Given the description of an element on the screen output the (x, y) to click on. 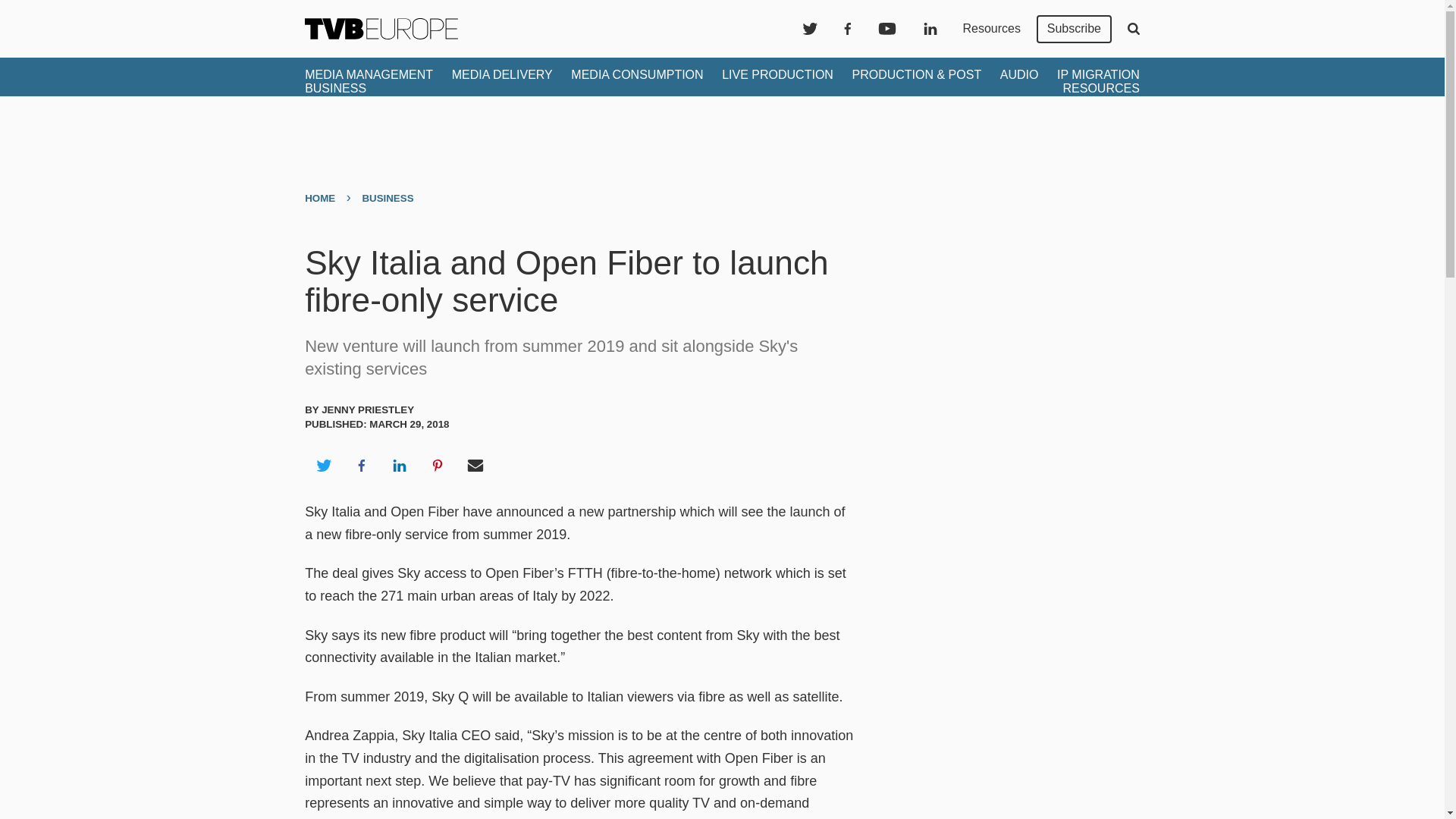
Share on Pinterest (438, 465)
Jenny Priestley's Author Profile (367, 409)
Share on Twitter (323, 465)
Share on LinkedIn (399, 465)
Share on Facebook (361, 465)
Share via Email (476, 465)
